Given the description of an element on the screen output the (x, y) to click on. 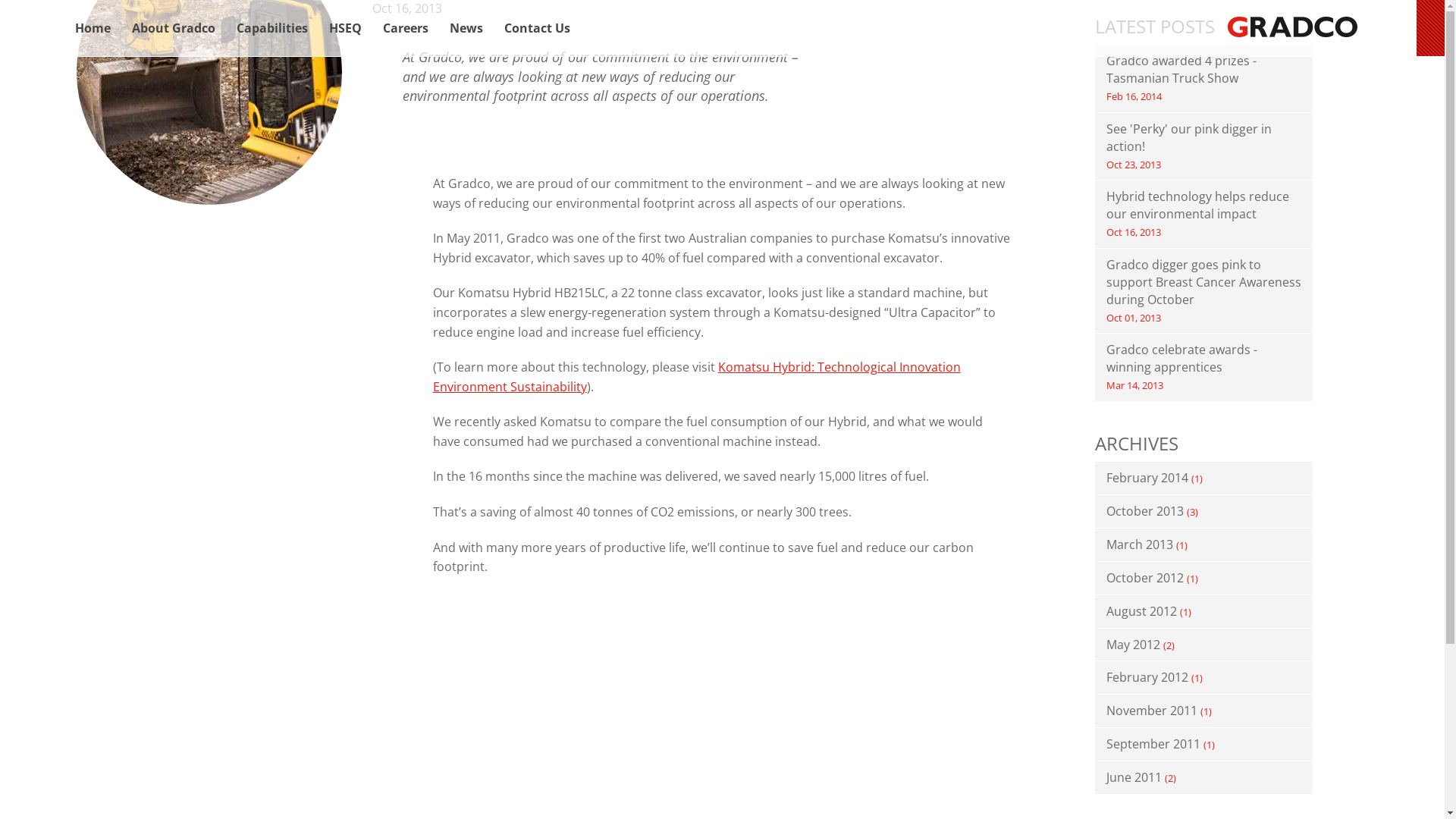
March 2013 (1) Element type: text (1204, 544)
February 2012 (1) Element type: text (1204, 677)
May 2012 (2) Element type: text (1204, 644)
Home Element type: text (92, 28)
October 2012 (1) Element type: text (1204, 578)
October 2013 (3) Element type: text (1204, 511)
February 2014 (1) Element type: text (1204, 478)
Gradco celebrate awards - winning apprentices
Mar 14, 2013 Element type: text (1204, 367)
Capabilities Element type: text (271, 28)
June 2011 (2) Element type: text (1204, 777)
News Element type: text (466, 28)
September 2011 (1) Element type: text (1204, 744)
Gradco awarded 4 prizes - Tasmanian Truck Show
Feb 16, 2014 Element type: text (1204, 78)
Contact Us Element type: text (536, 28)
November 2011 (1) Element type: text (1204, 711)
About Gradco Element type: text (173, 28)
HSEQ Element type: text (345, 28)
See 'Perky' our pink digger in action!
Oct 23, 2013 Element type: text (1204, 146)
Careers Element type: text (405, 28)
August 2012 (1) Element type: text (1204, 611)
